Given the description of an element on the screen output the (x, y) to click on. 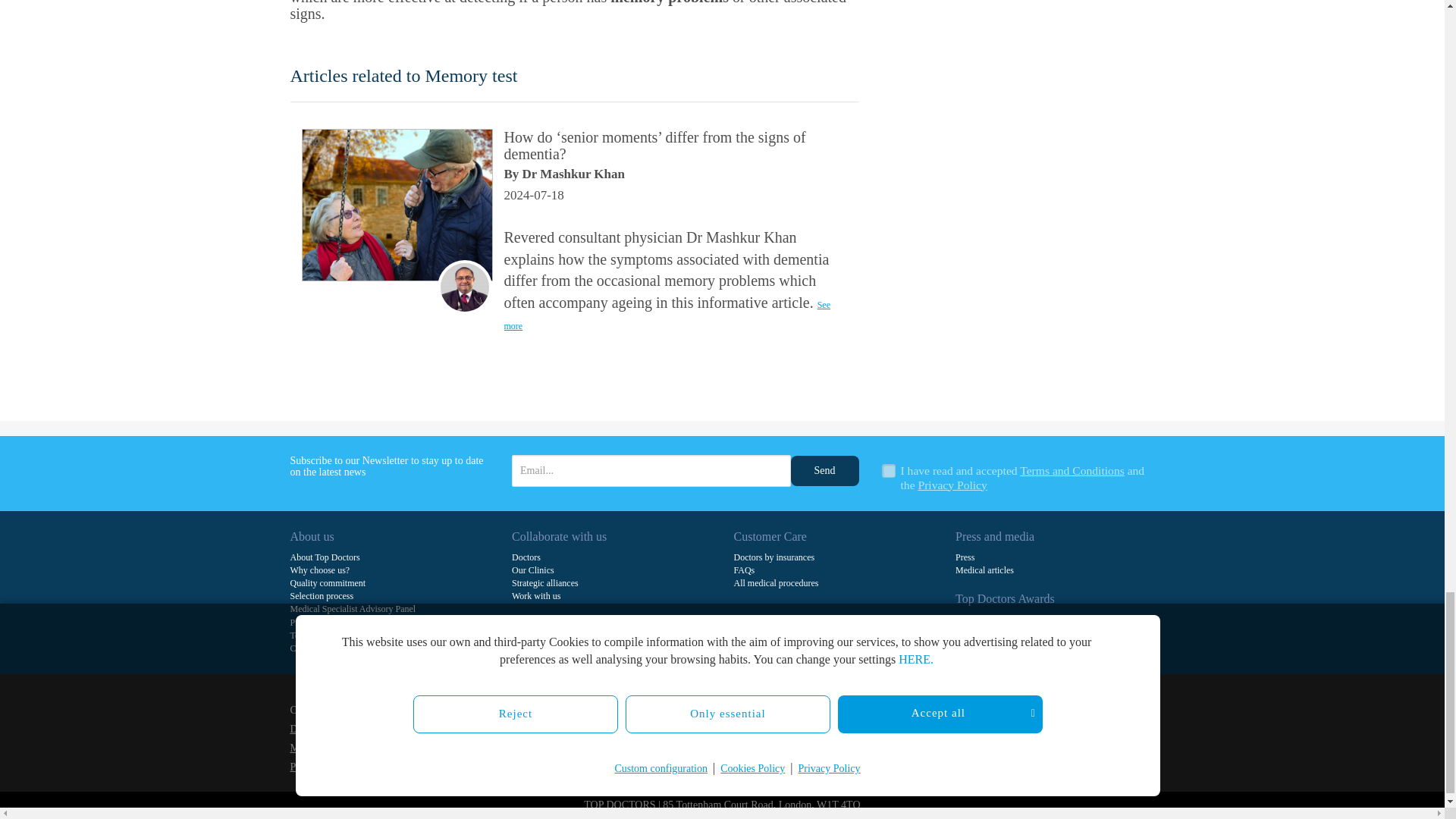
Top Doctors su Instagram (858, 738)
Top Doctors en Twitter (774, 738)
Top Doctors su Spotify (886, 738)
Top Doctors en Youtube (829, 738)
Top Doctors en Facebook (746, 738)
Top Doctors en Linkedin (802, 738)
